Given the description of an element on the screen output the (x, y) to click on. 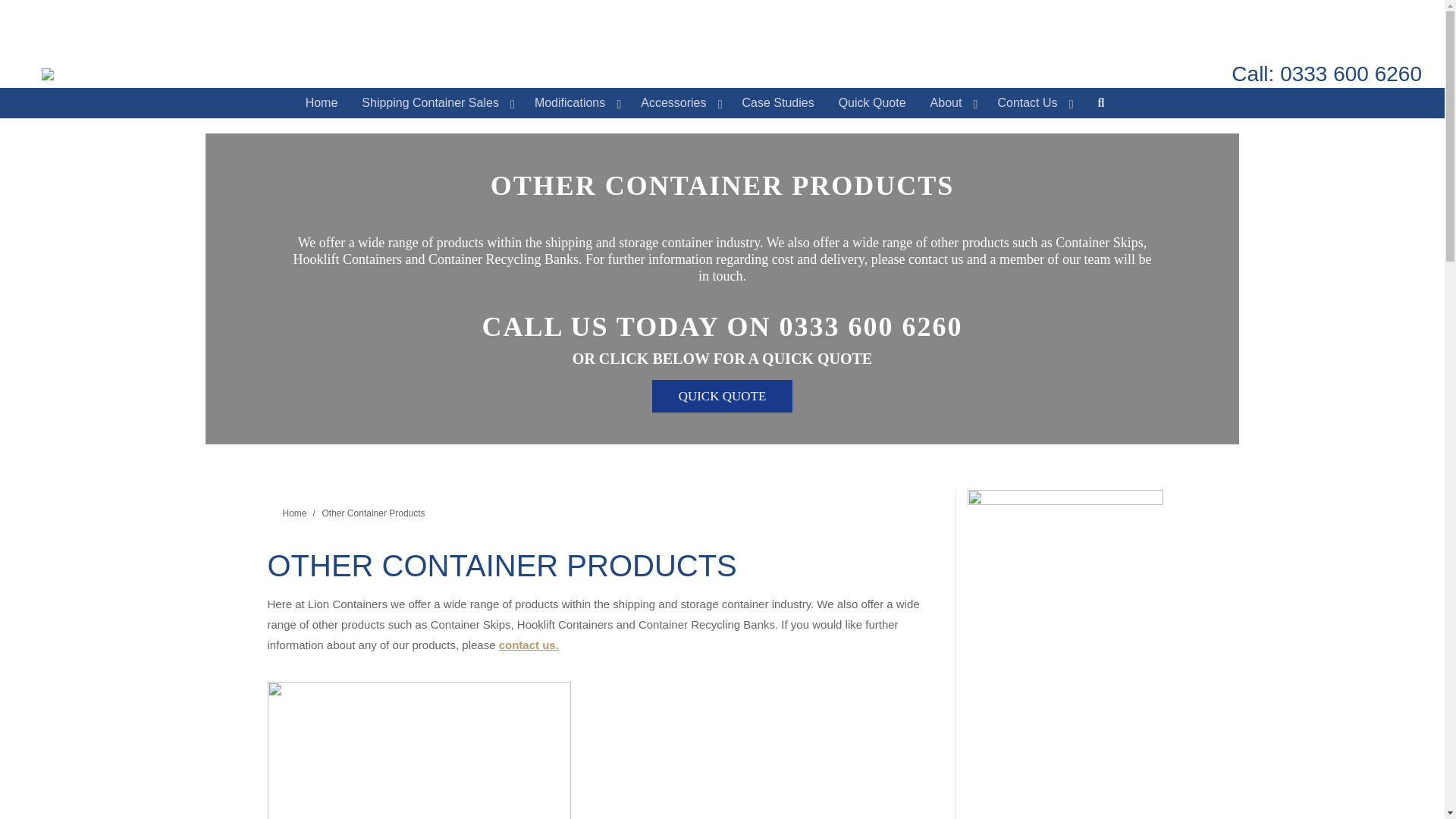
Call: 0333 600 6260 (1326, 74)
Shipping Container Sales (435, 102)
Go! (24, 16)
Home (322, 102)
Home (293, 512)
Modifications (575, 102)
